Given the description of an element on the screen output the (x, y) to click on. 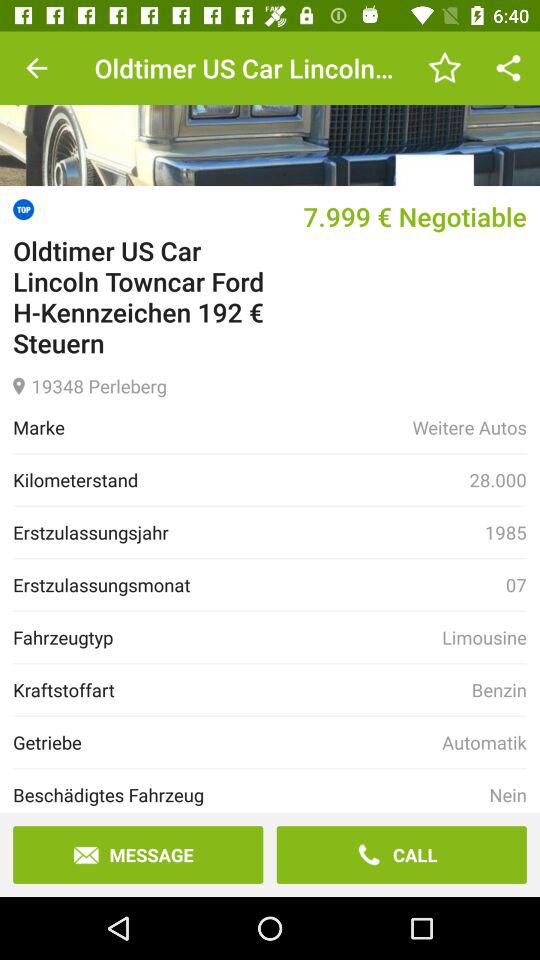
launch the item to the right of marke icon (469, 427)
